Given the description of an element on the screen output the (x, y) to click on. 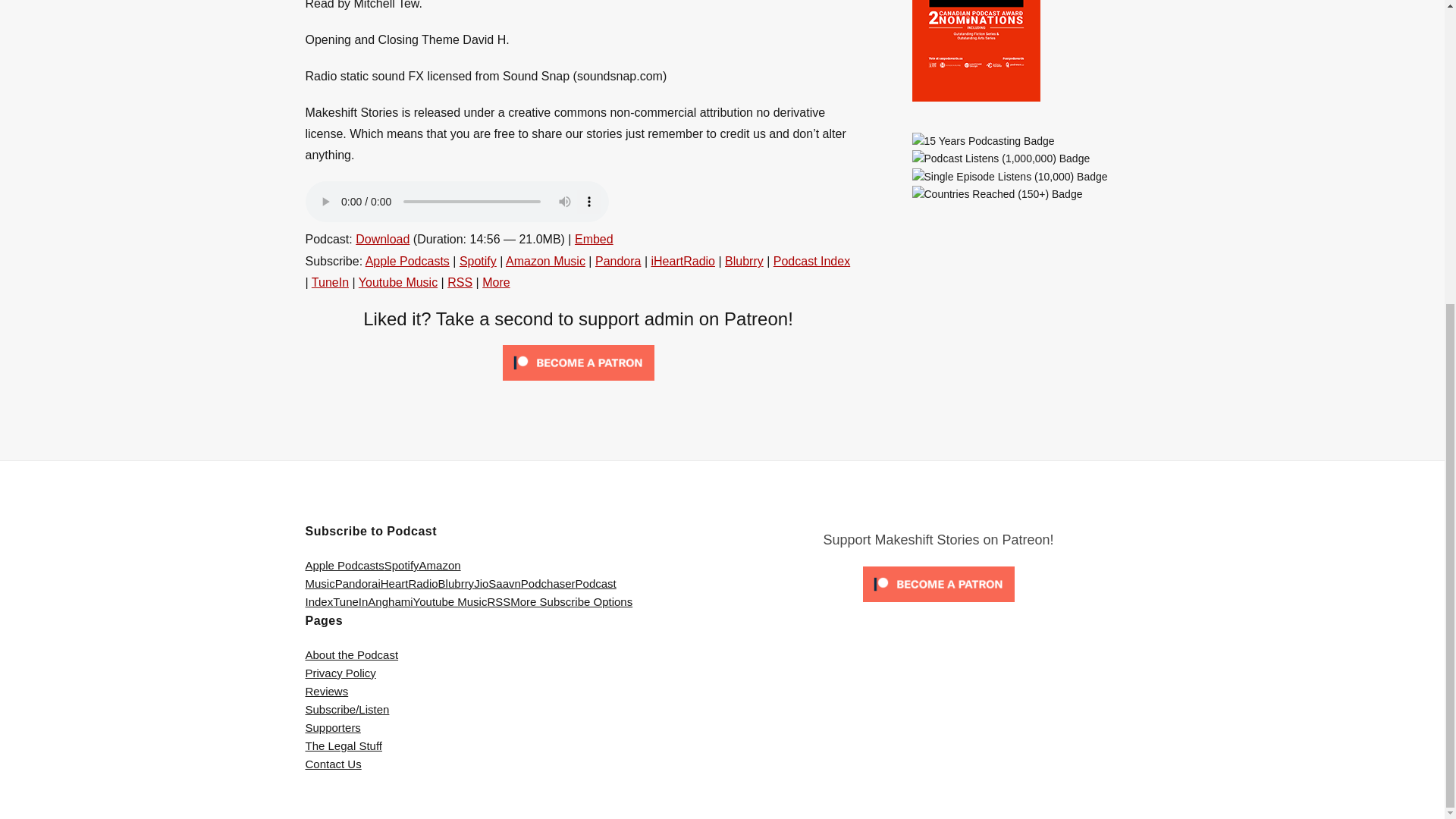
Subscribe on Blubrry (743, 260)
Embed (593, 238)
Subscribe on Spotify (478, 260)
Subscribe on Amazon Music (545, 260)
Subscribe on Apple Podcasts (407, 260)
Subscribe on iHeartRadio (682, 260)
Download (382, 238)
15 Years Podcasting Badge (982, 140)
Subscribe on TuneIn (330, 282)
Subscribe on Pandora (618, 260)
